Given the description of an element on the screen output the (x, y) to click on. 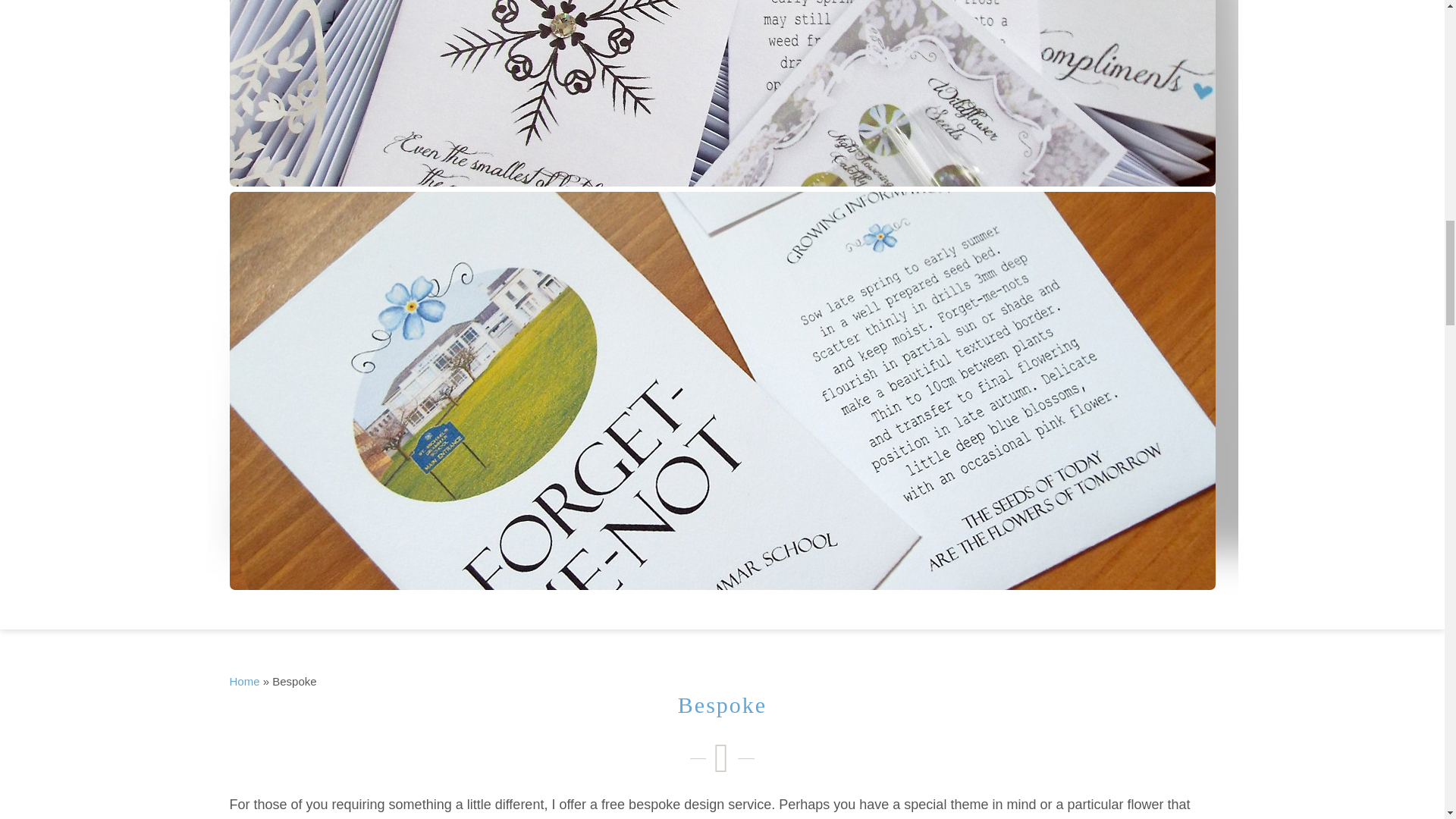
Home (243, 680)
